Given the description of an element on the screen output the (x, y) to click on. 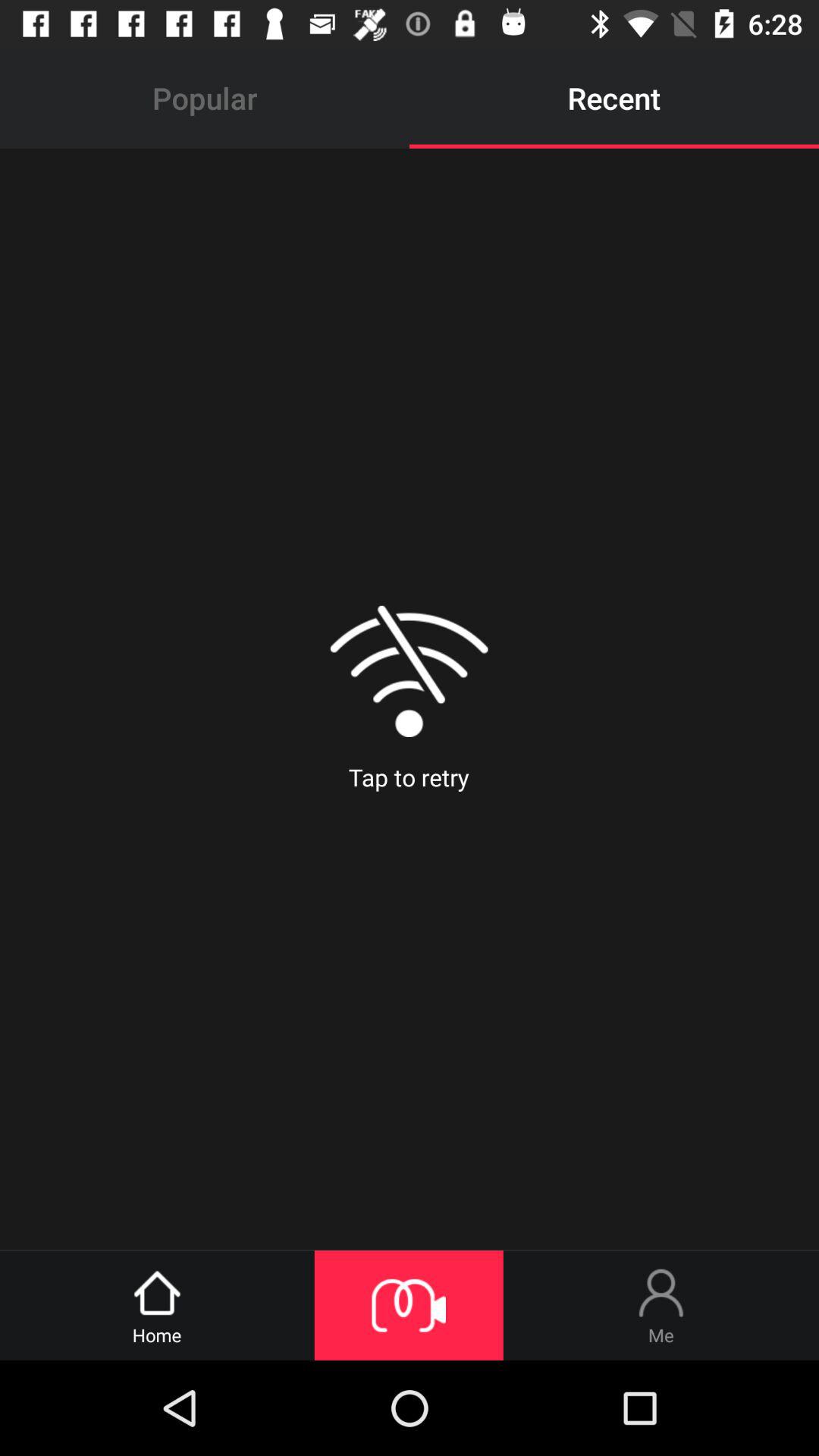
flip to the tap to retry icon (408, 699)
